Given the description of an element on the screen output the (x, y) to click on. 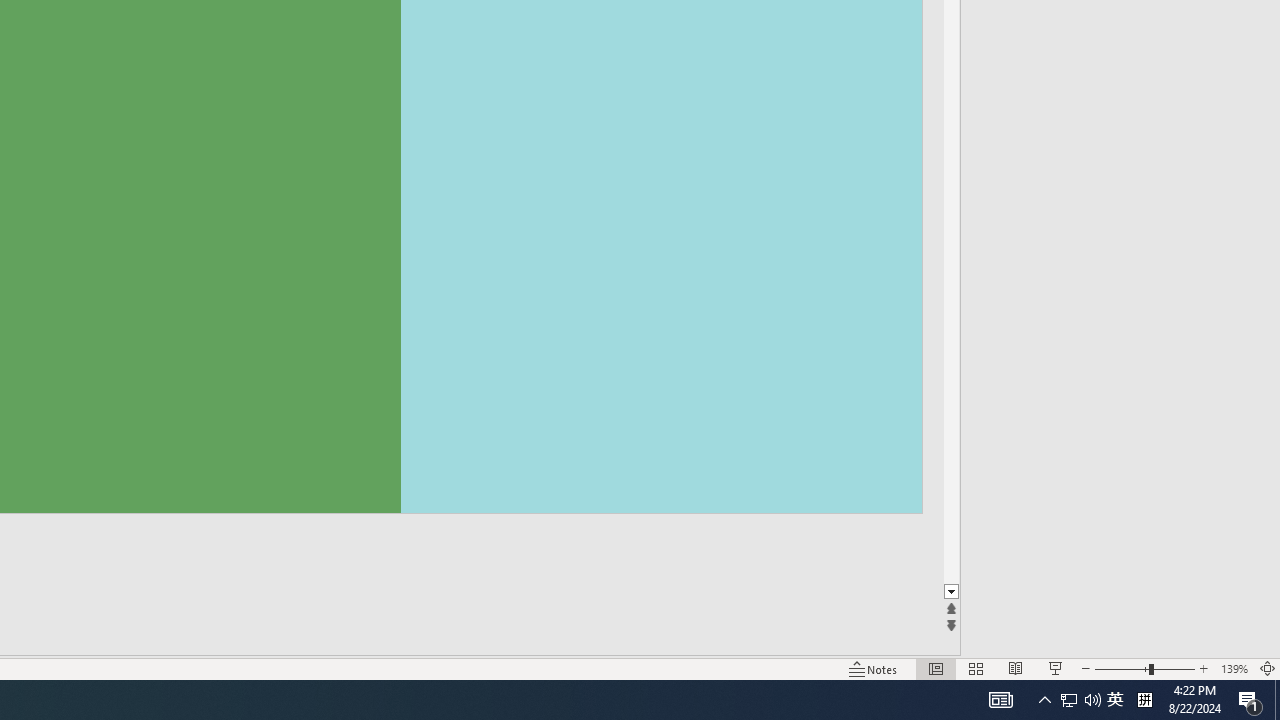
AutomationID: 4105 (1000, 699)
Q2790: 100% (1092, 699)
Zoom 139% (1234, 668)
